Given the description of an element on the screen output the (x, y) to click on. 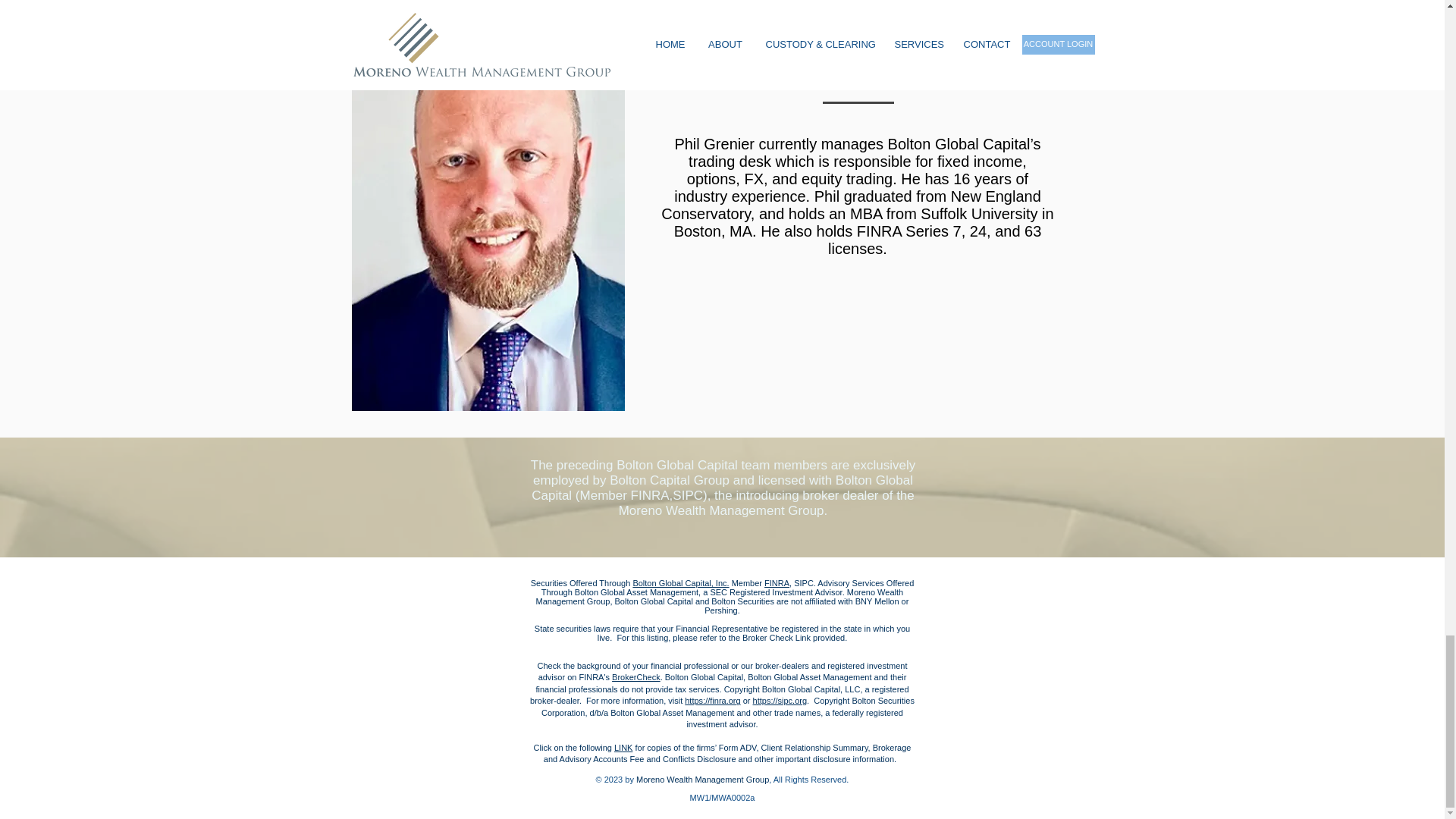
BrokerCheck (636, 676)
LINK (622, 747)
Bolton Global Capital, Inc. (680, 583)
FINRA (776, 583)
